Given the description of an element on the screen output the (x, y) to click on. 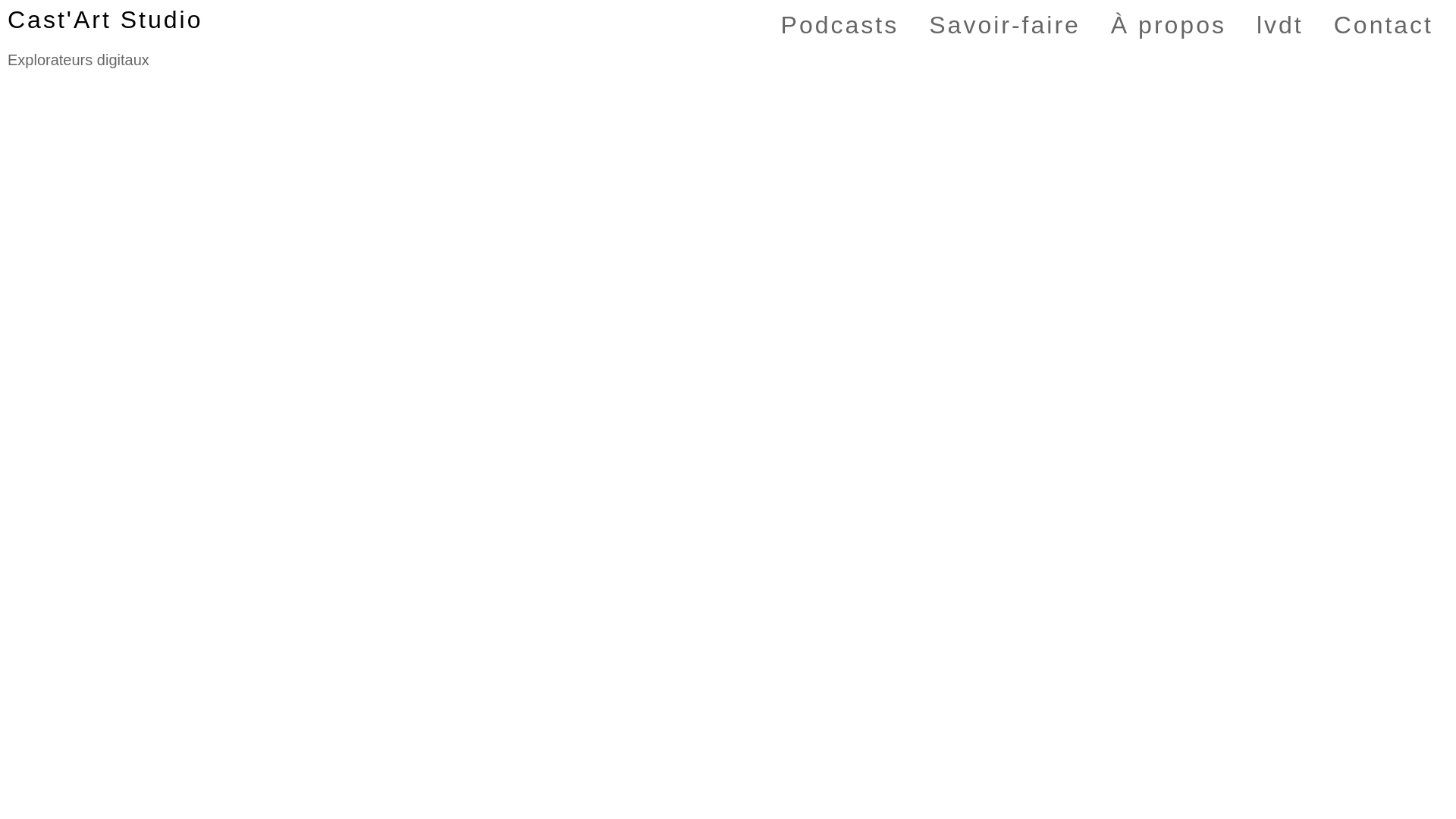
Savoir-faire Element type: text (1004, 24)
Cast'Art Studio Element type: text (104, 19)
Podcasts Element type: text (839, 24)
lvdt Element type: text (1279, 24)
Contact Element type: text (1383, 24)
